Given the description of an element on the screen output the (x, y) to click on. 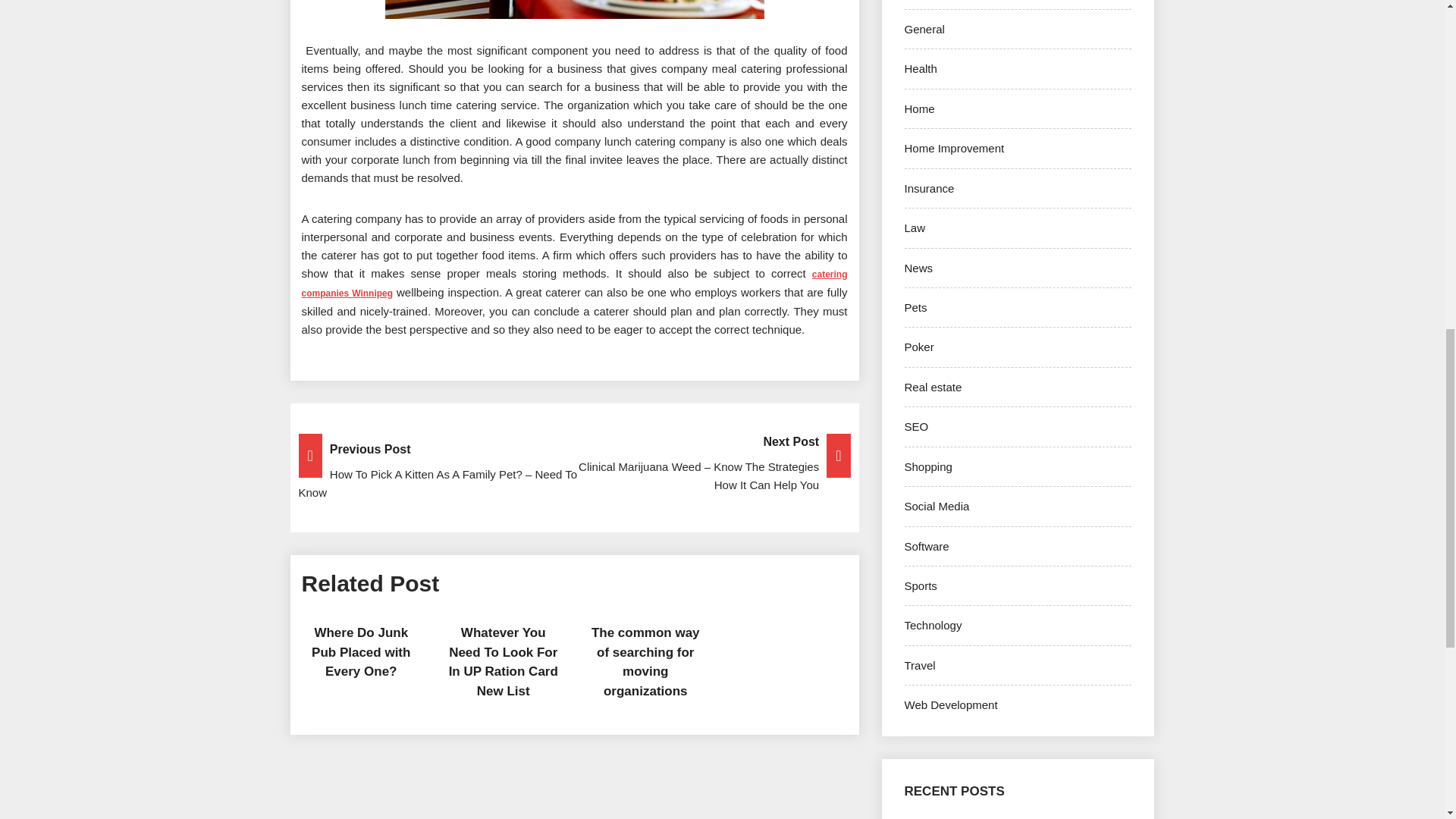
Where Do Junk Pub Placed with Every One? (360, 651)
Pets (915, 307)
Home Improvement (954, 147)
Home (919, 108)
News (918, 267)
Whatever You Need To Look For In UP Ration Card New List (502, 661)
catering companies Winnipeg (574, 282)
General (923, 29)
The common way of searching for moving organizations (645, 661)
Law (914, 227)
